Given the description of an element on the screen output the (x, y) to click on. 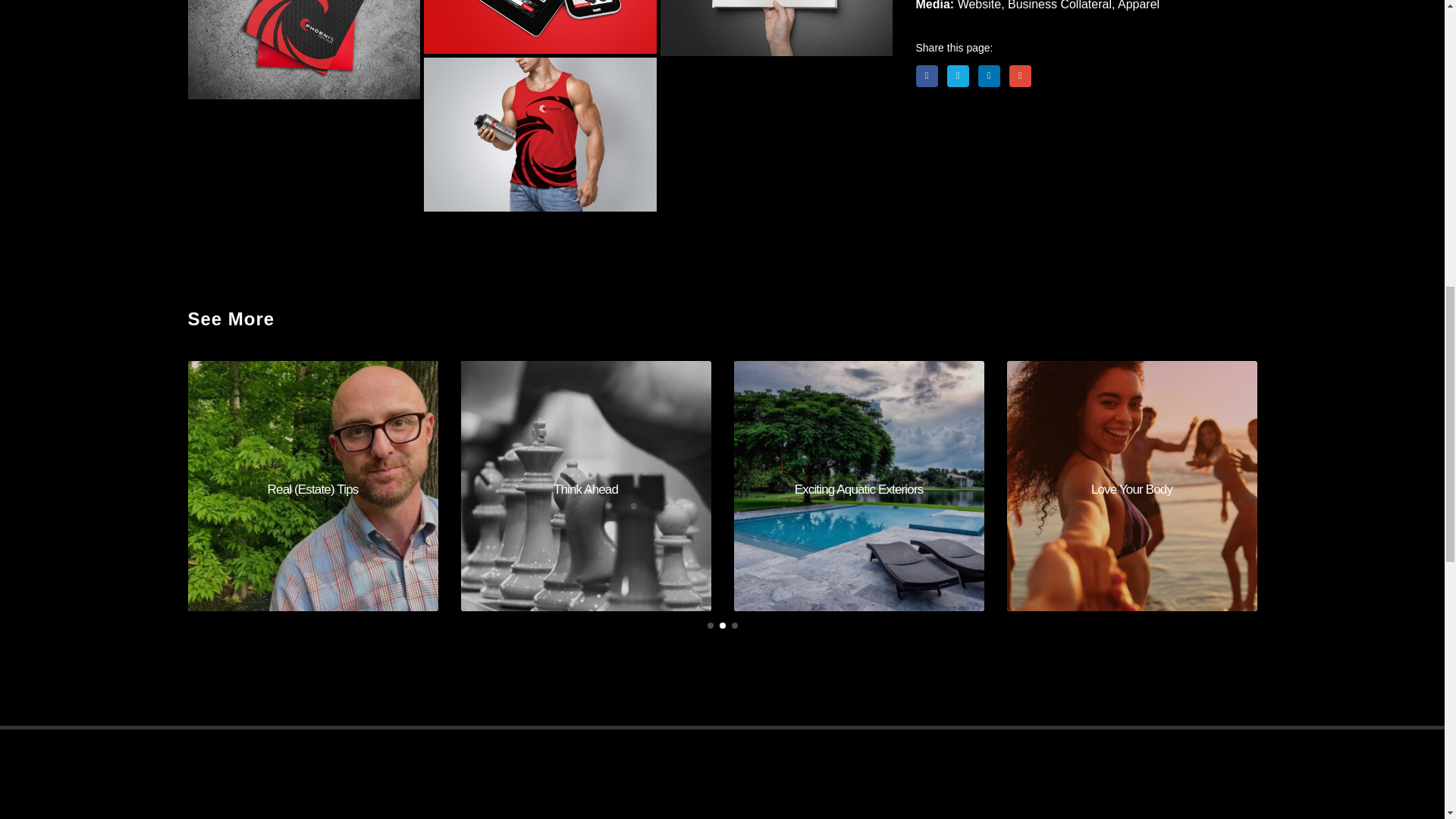
Email (1019, 75)
Love Your Body (1132, 485)
Exciting Aquatic Exteriors (858, 485)
Think Ahead (586, 485)
LinkedIn (989, 75)
Facebook (926, 75)
Twitter (958, 75)
